Given the description of an element on the screen output the (x, y) to click on. 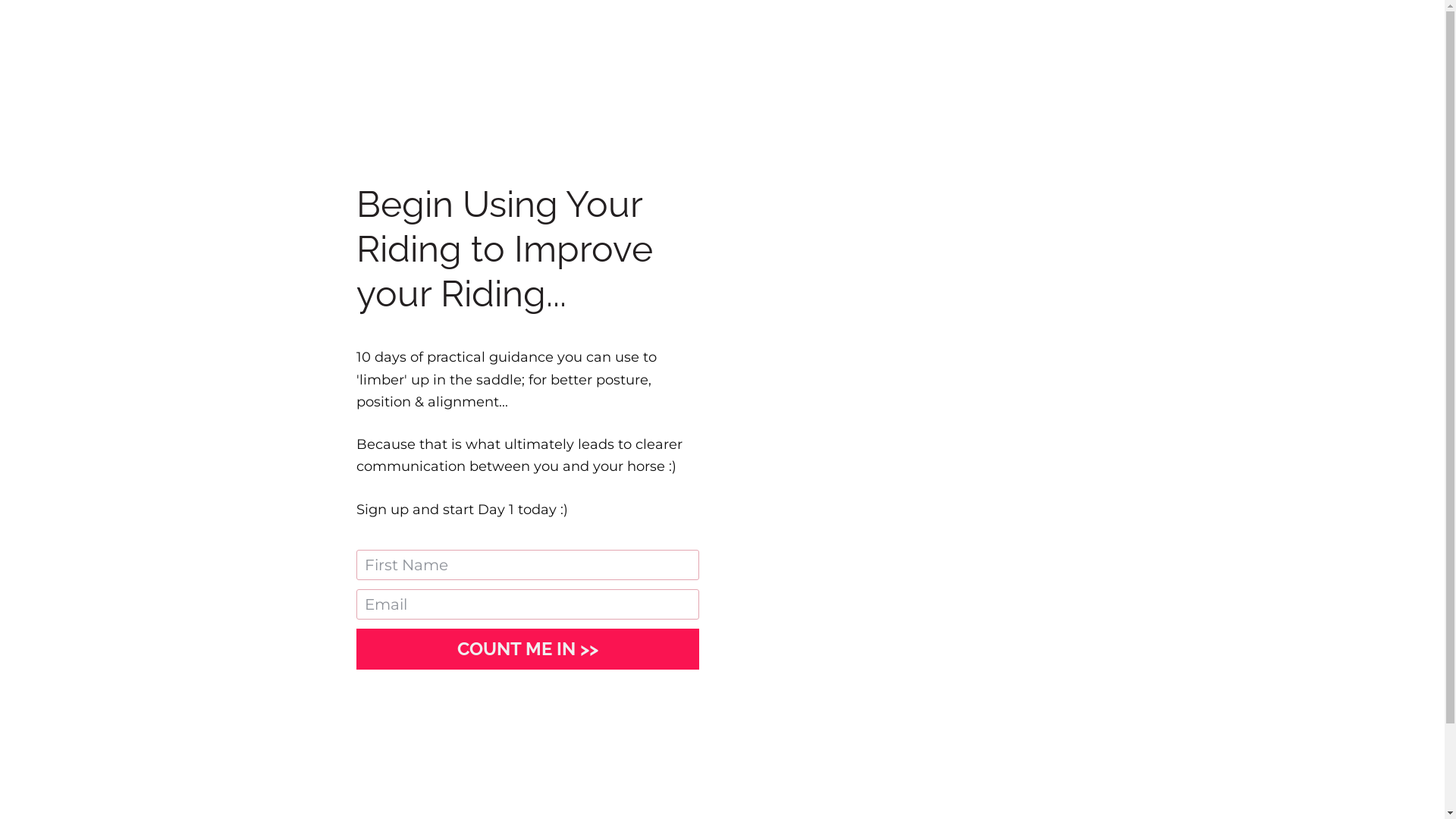
COUNT ME IN >> Element type: text (527, 648)
